Given the description of an element on the screen output the (x, y) to click on. 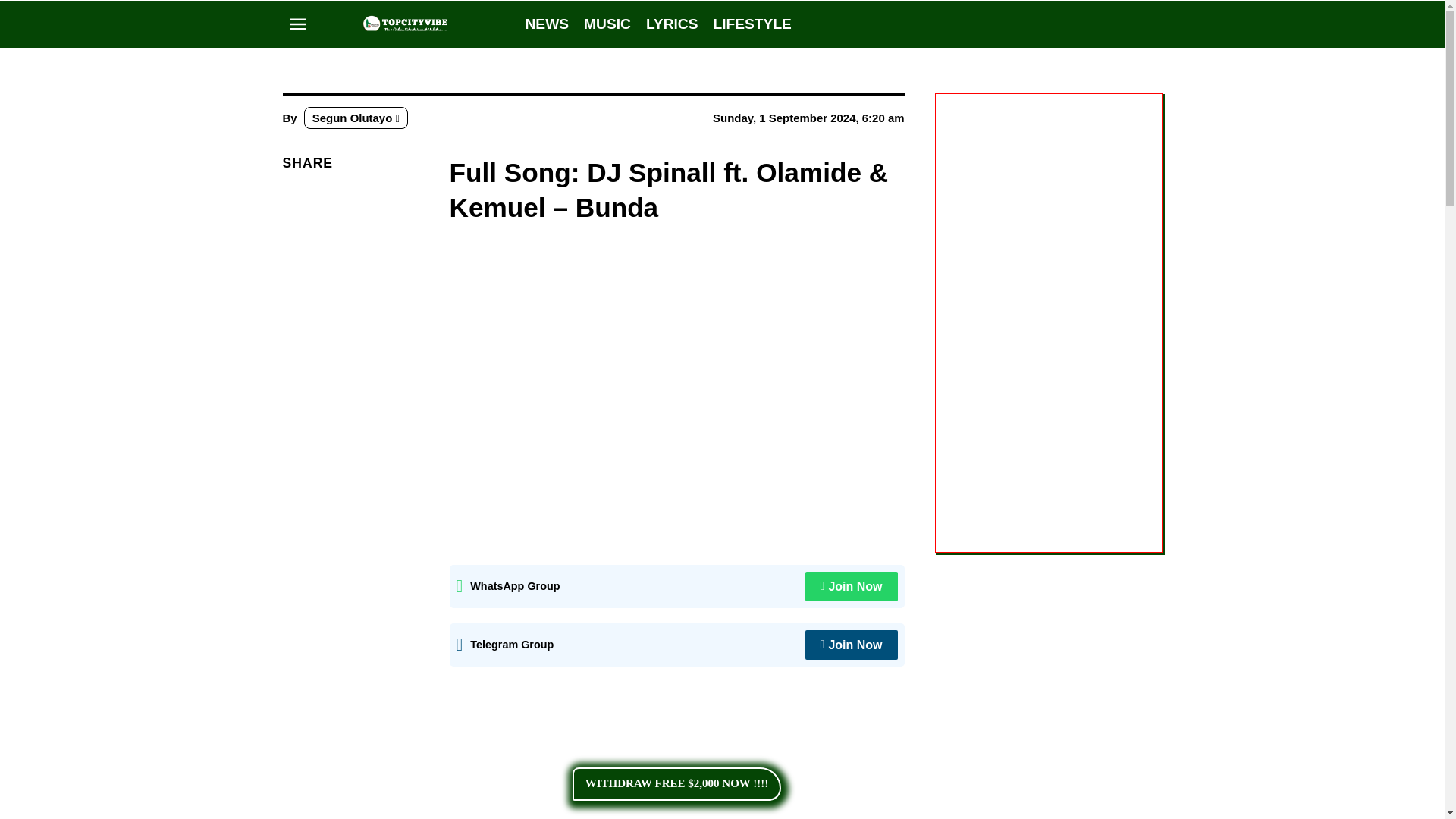
LYRICS (672, 23)
LIFESTYLE (751, 23)
Join Now (851, 644)
Join Now (851, 586)
MUSIC (606, 23)
NEWS (546, 23)
Segun Olutayo (355, 117)
